Given the description of an element on the screen output the (x, y) to click on. 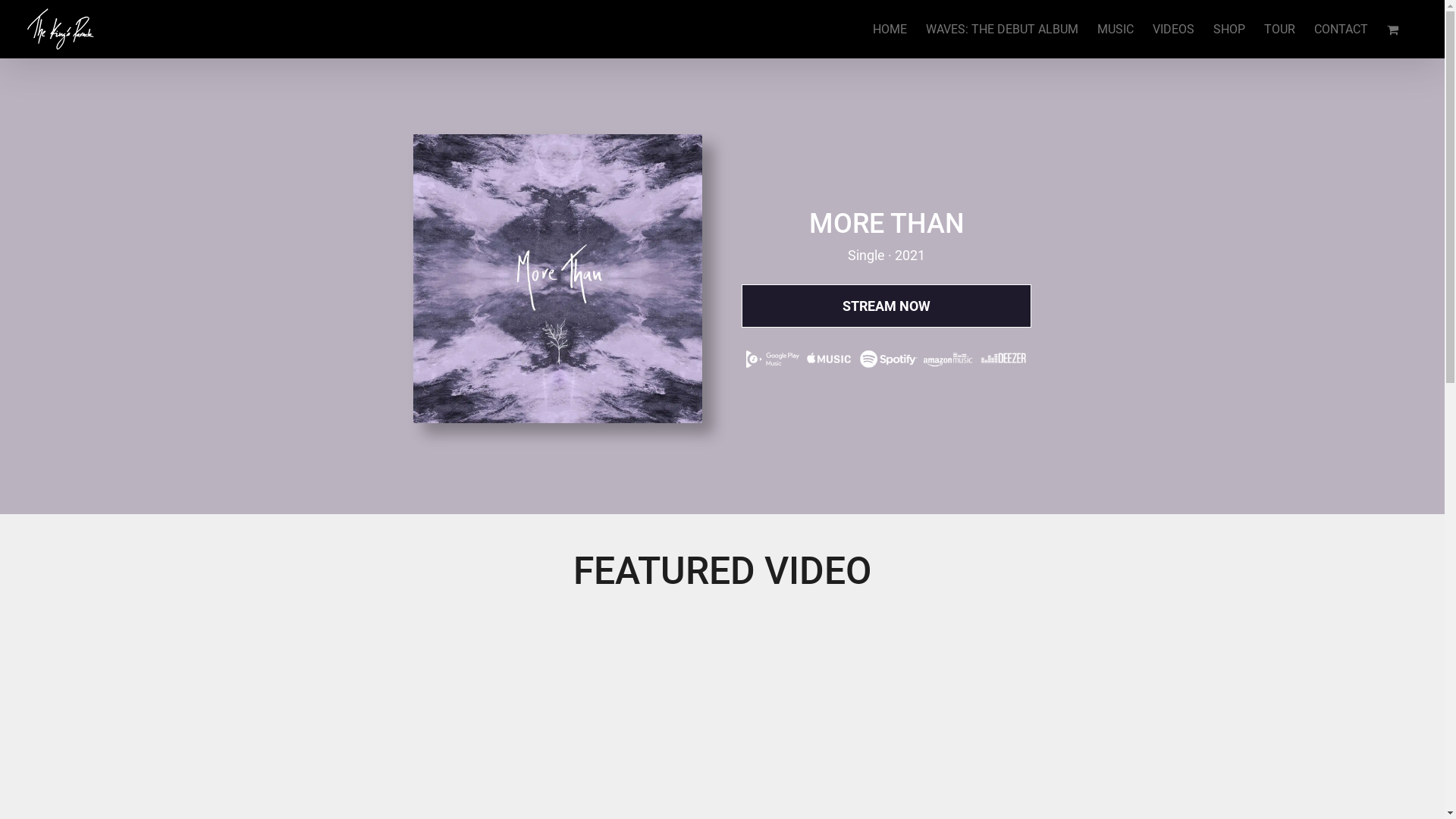
WAVES: THE DEBUT ALBUM Element type: text (1001, 29)
CONTACT Element type: text (1341, 29)
SHOP Element type: text (1229, 29)
TKP DSP Lockup Element type: hover (885, 351)
STREAM NOW Element type: text (885, 305)
TOUR Element type: text (1279, 29)
MUSIC Element type: text (1115, 29)
VIDEOS Element type: text (1173, 29)
HOME Element type: text (889, 29)
